Given the description of an element on the screen output the (x, y) to click on. 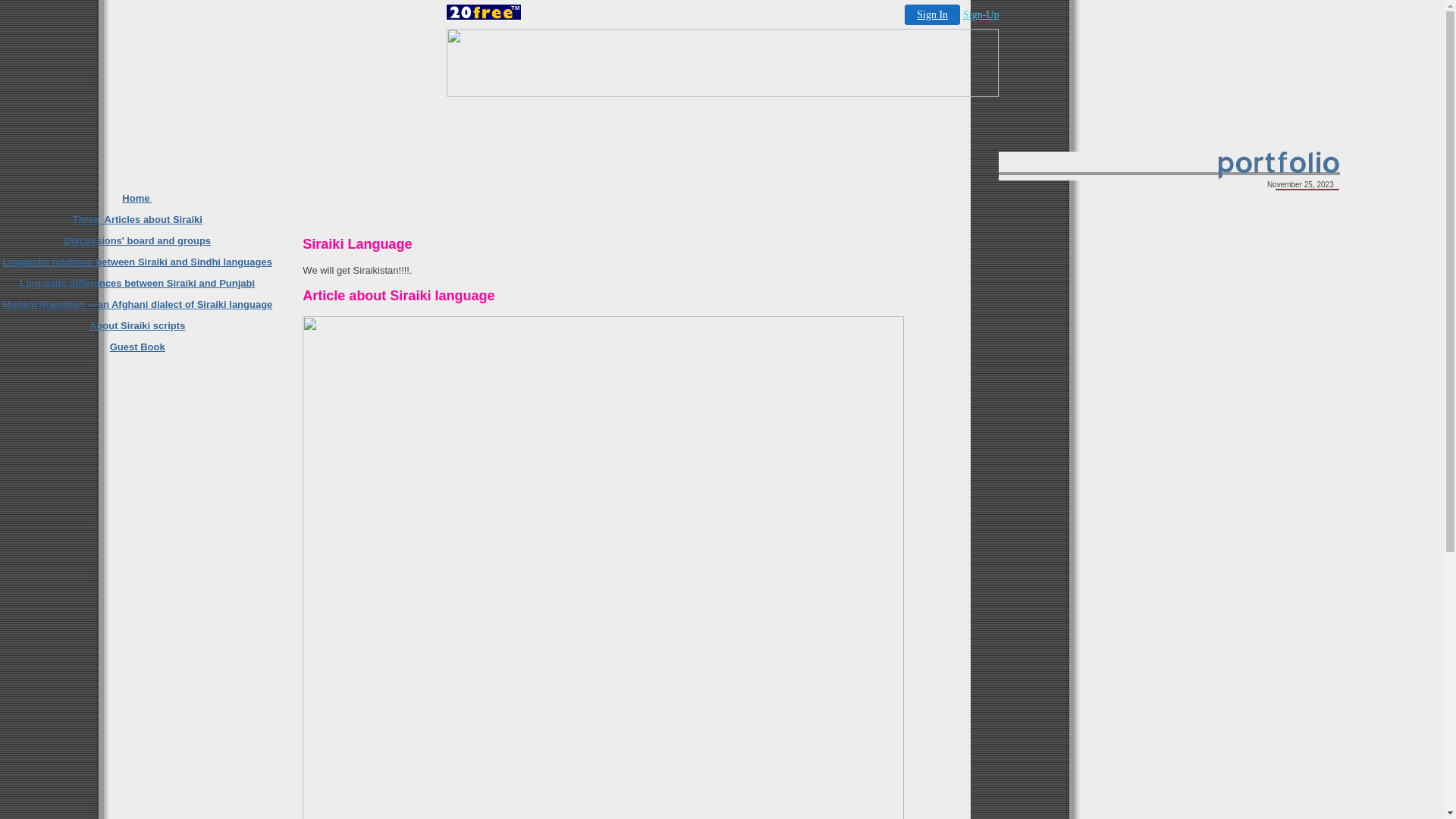
Sign-Up Element type: text (980, 14)
Linguistic differences between Siraiki and Punjabi Element type: text (136, 282)
Three  Articles about Siraiki Element type: text (136, 219)
Guest Book Element type: text (137, 346)
About Siraiki scripts Element type: text (137, 325)
Discussions' board and groups Element type: text (136, 240)
Multani /Kandhari ---an Afghani dialect of Siraiki language Element type: text (137, 304)
Home  Element type: text (137, 197)
Linguistic relations between Siraiki and Sindhi languages Element type: text (136, 261)
Sign In Element type: text (932, 14)
